Given the description of an element on the screen output the (x, y) to click on. 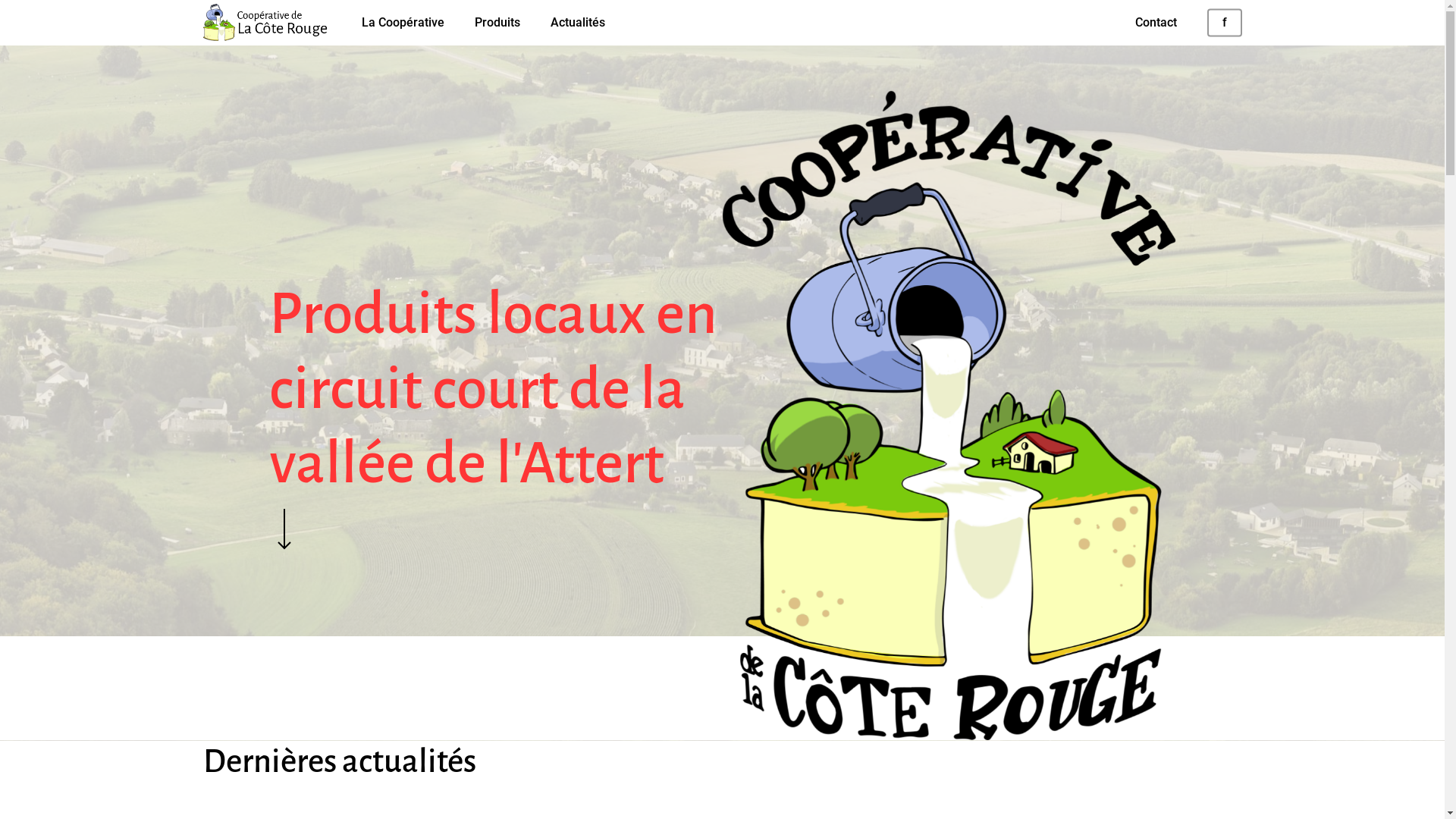
Contact Element type: text (1155, 22)
Produits Element type: text (497, 22)
f Element type: text (1224, 22)
